Given the description of an element on the screen output the (x, y) to click on. 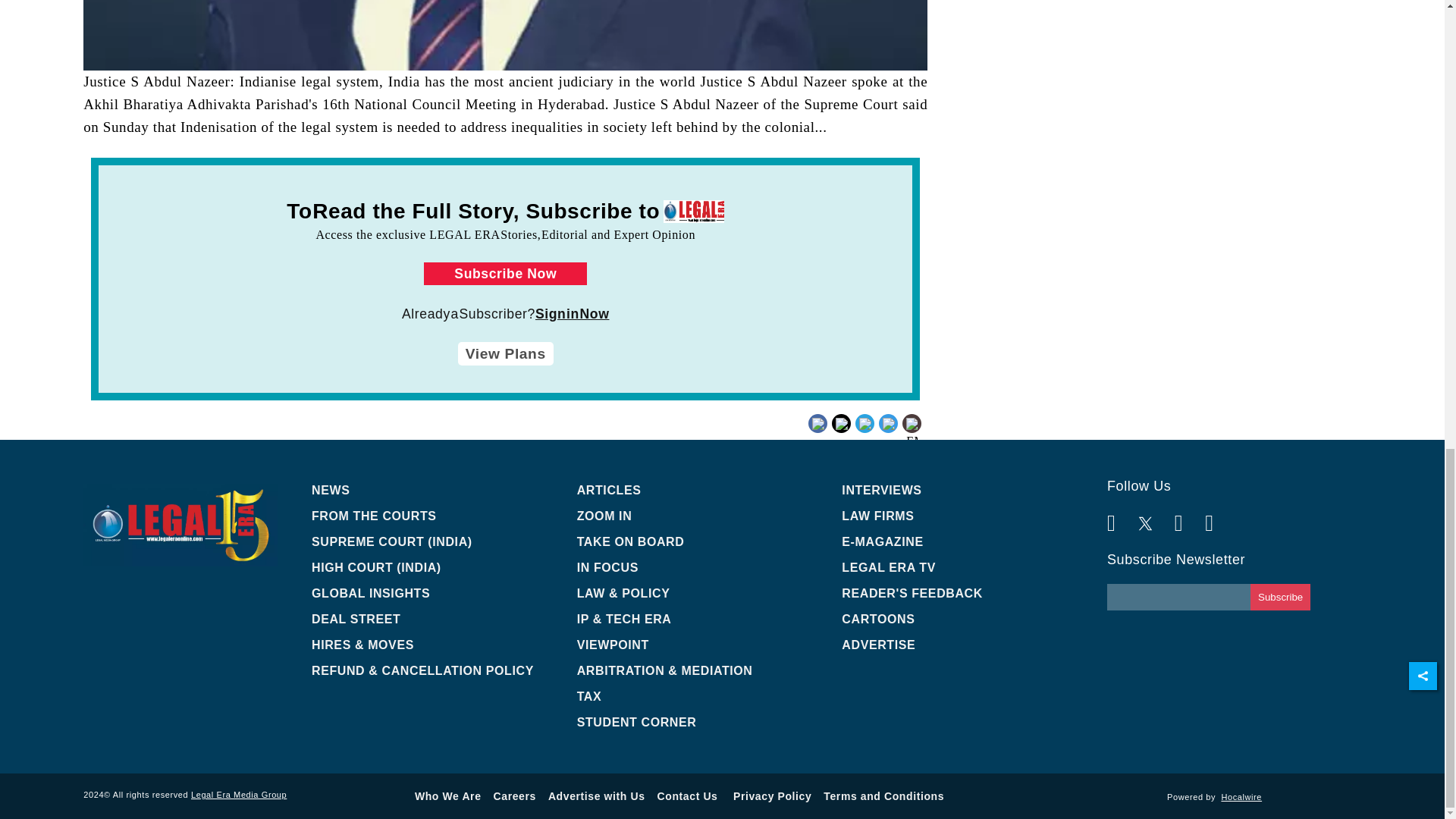
Twitter (863, 421)
facebook (846, 434)
linkedin (889, 434)
twitter (863, 434)
Subscribe (1280, 596)
LinkedIn (890, 421)
Facebook (845, 421)
